Given the description of an element on the screen output the (x, y) to click on. 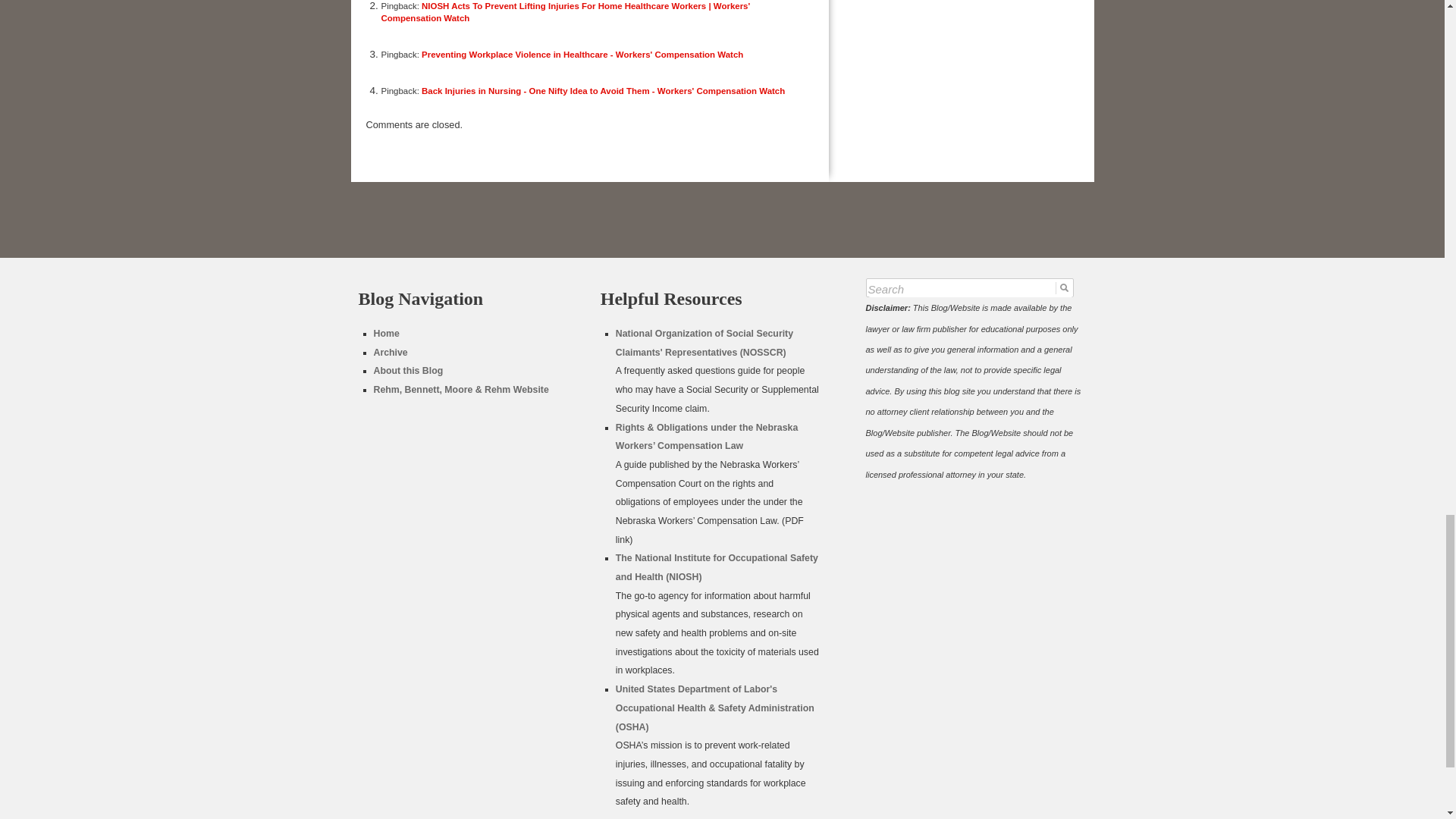
Search (969, 289)
